Given the description of an element on the screen output the (x, y) to click on. 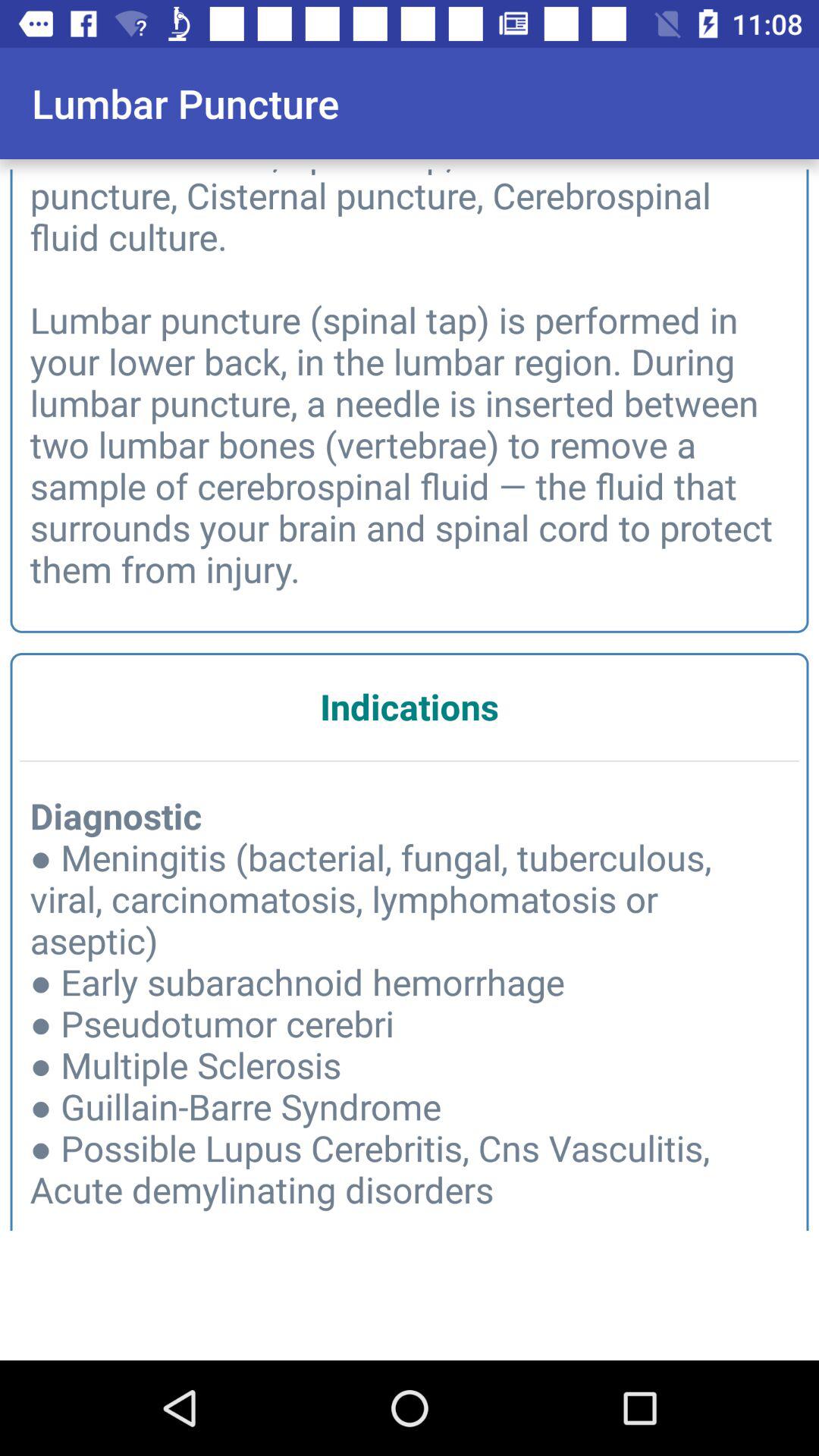
flip until indications item (409, 706)
